Given the description of an element on the screen output the (x, y) to click on. 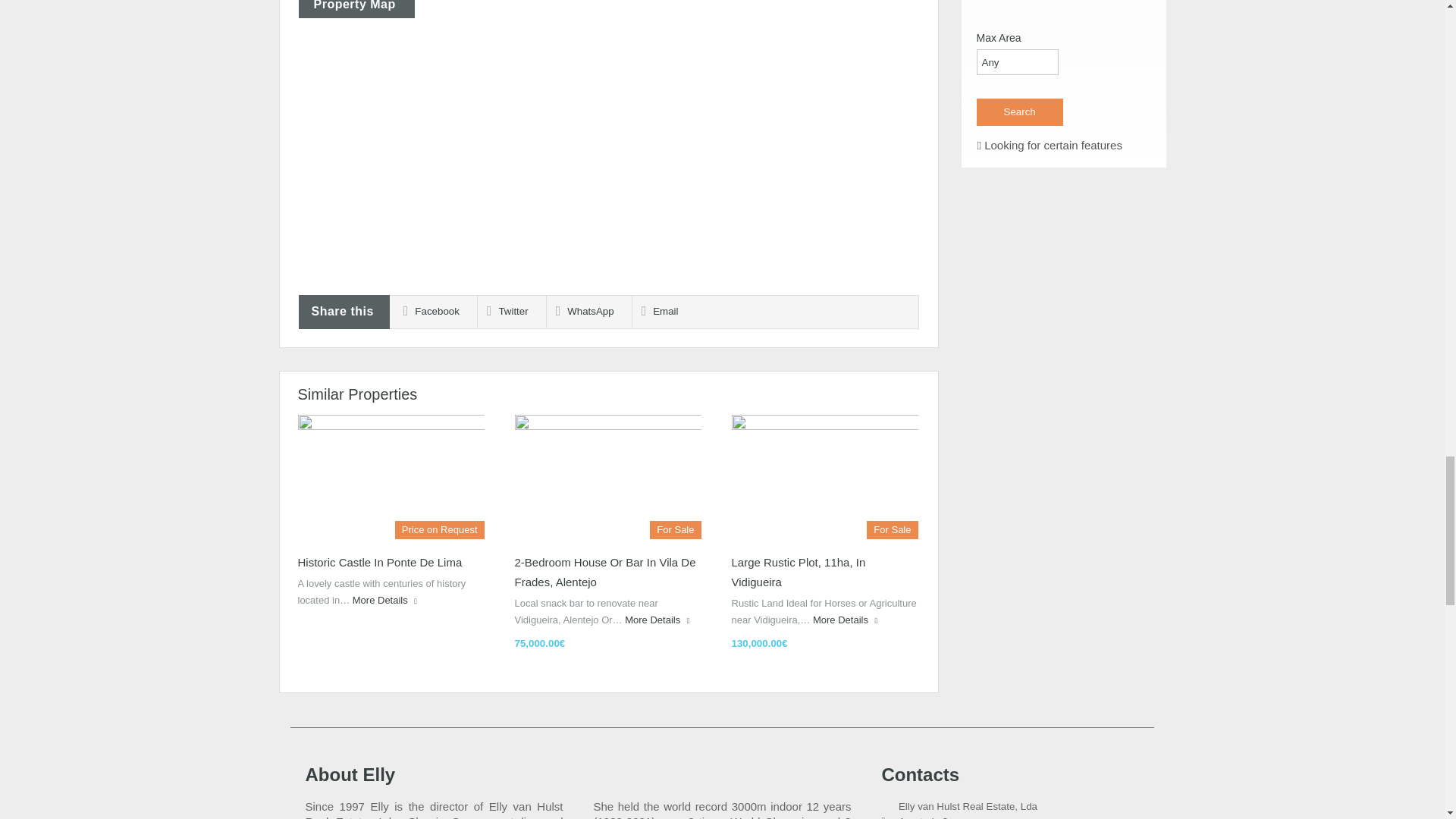
Only provide digits! (1017, 62)
Search (1019, 112)
